Given the description of an element on the screen output the (x, y) to click on. 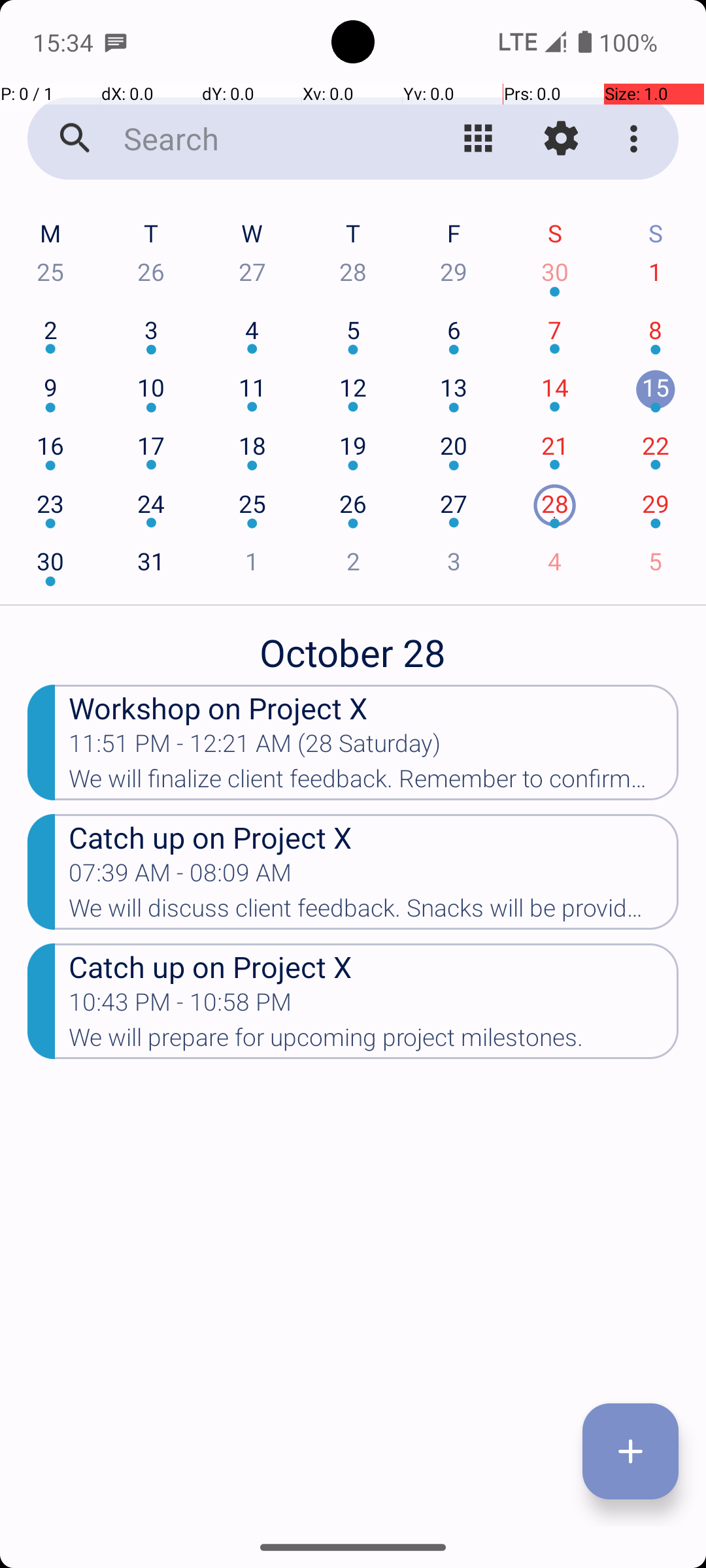
October 28 Element type: android.widget.TextView (352, 644)
11:51 PM - 12:21 AM (28 Saturday) Element type: android.widget.TextView (254, 747)
We will finalize client feedback. Remember to confirm attendance. Element type: android.widget.TextView (373, 782)
07:39 AM - 08:09 AM Element type: android.widget.TextView (179, 876)
We will discuss client feedback. Snacks will be provided. Element type: android.widget.TextView (373, 911)
10:43 PM - 10:58 PM Element type: android.widget.TextView (179, 1005)
We will prepare for upcoming project milestones. Element type: android.widget.TextView (373, 1041)
